Given the description of an element on the screen output the (x, y) to click on. 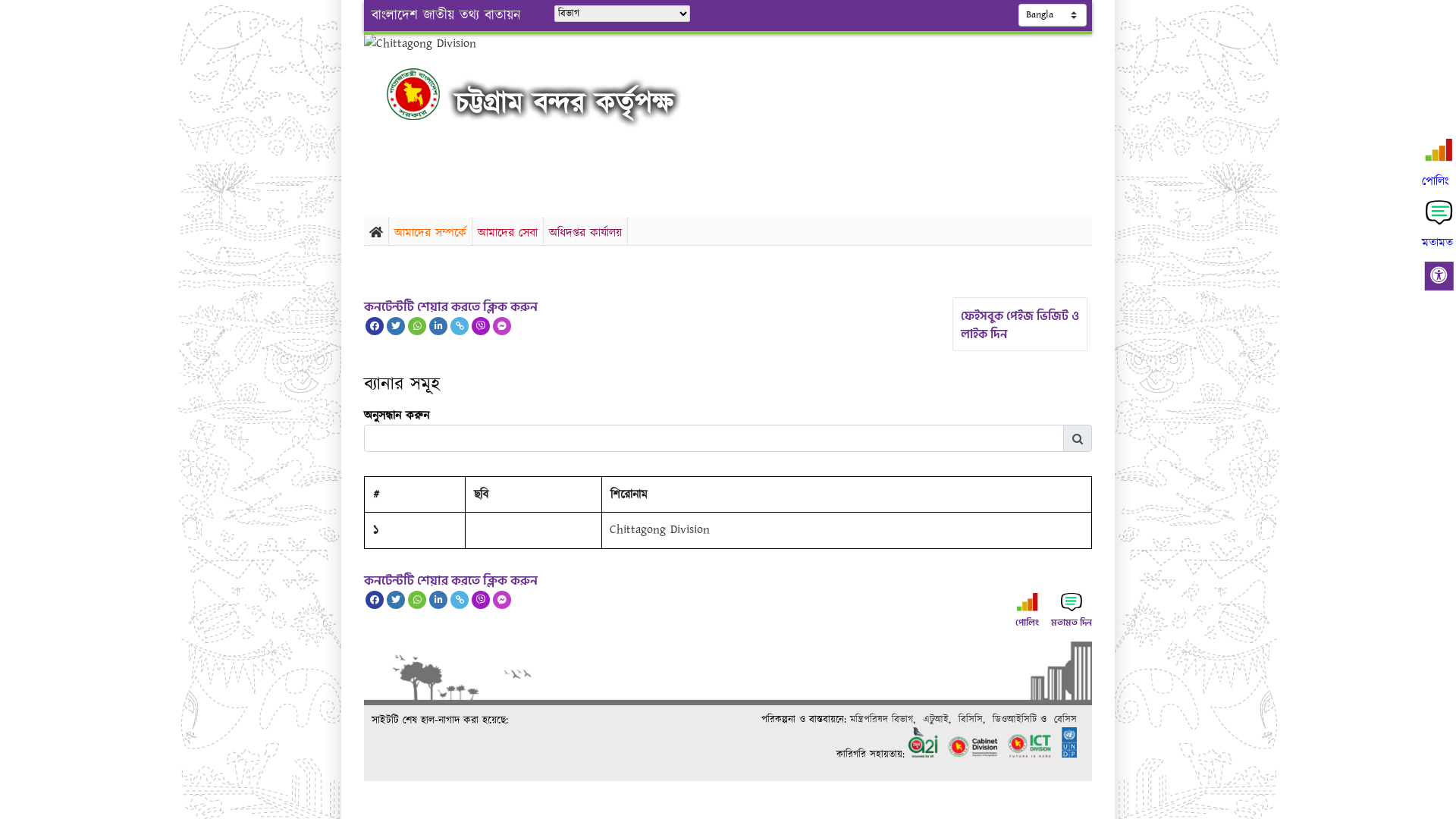

                
             Element type: hover (426, 93)
Chittagong Division Element type: text (659, 528)
